Given the description of an element on the screen output the (x, y) to click on. 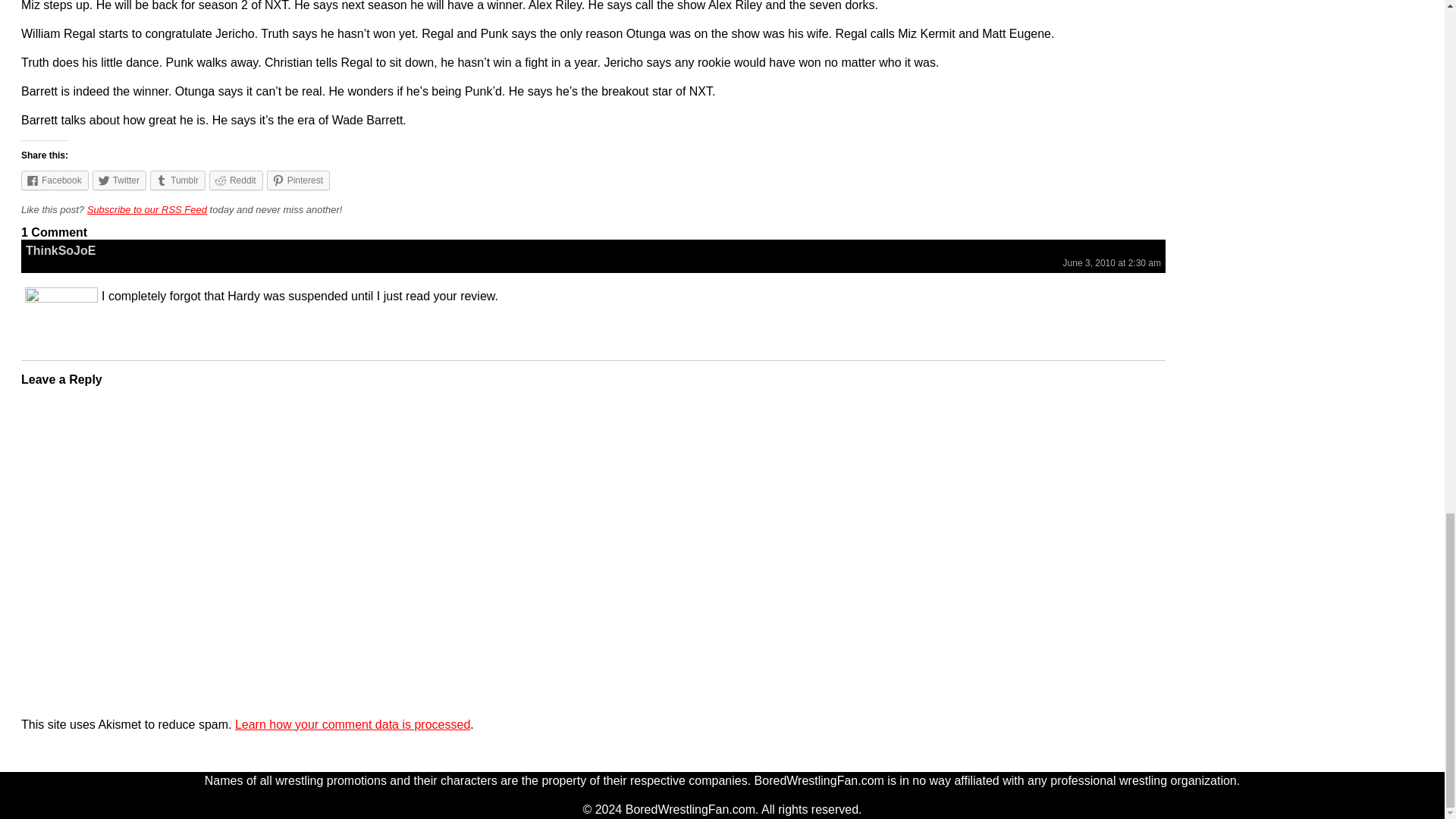
June 3, 2010 at 2:30 am (1111, 262)
Reddit (236, 180)
Click to share on Reddit (236, 180)
Click to share on Pinterest (298, 180)
Facebook (54, 180)
Learn how your comment data is processed (352, 724)
Twitter (120, 180)
Subscribe to our RSS Feed (146, 209)
Click to share on Twitter (120, 180)
